Given the description of an element on the screen output the (x, y) to click on. 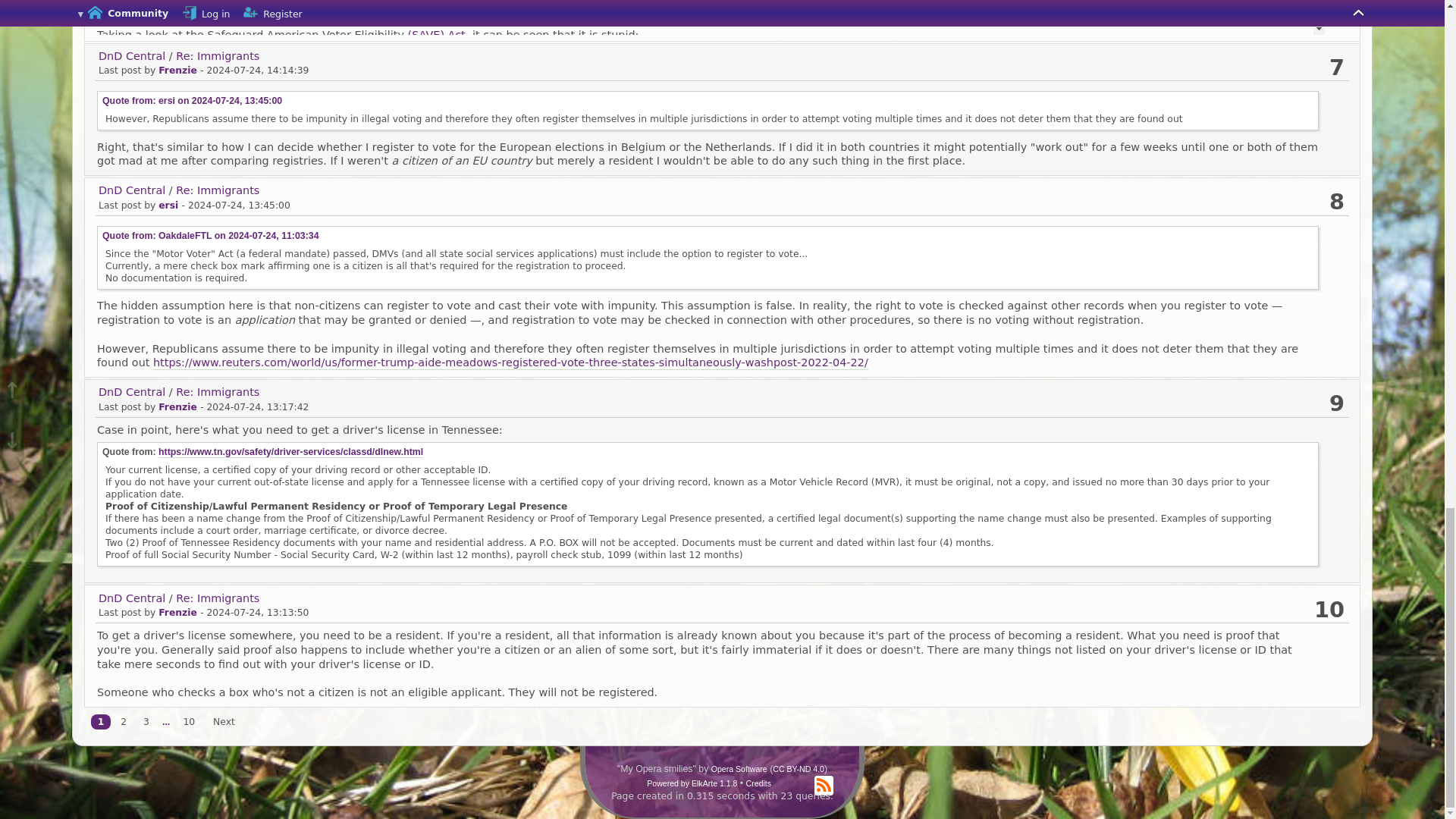
Last post (257, 70)
